Given the description of an element on the screen output the (x, y) to click on. 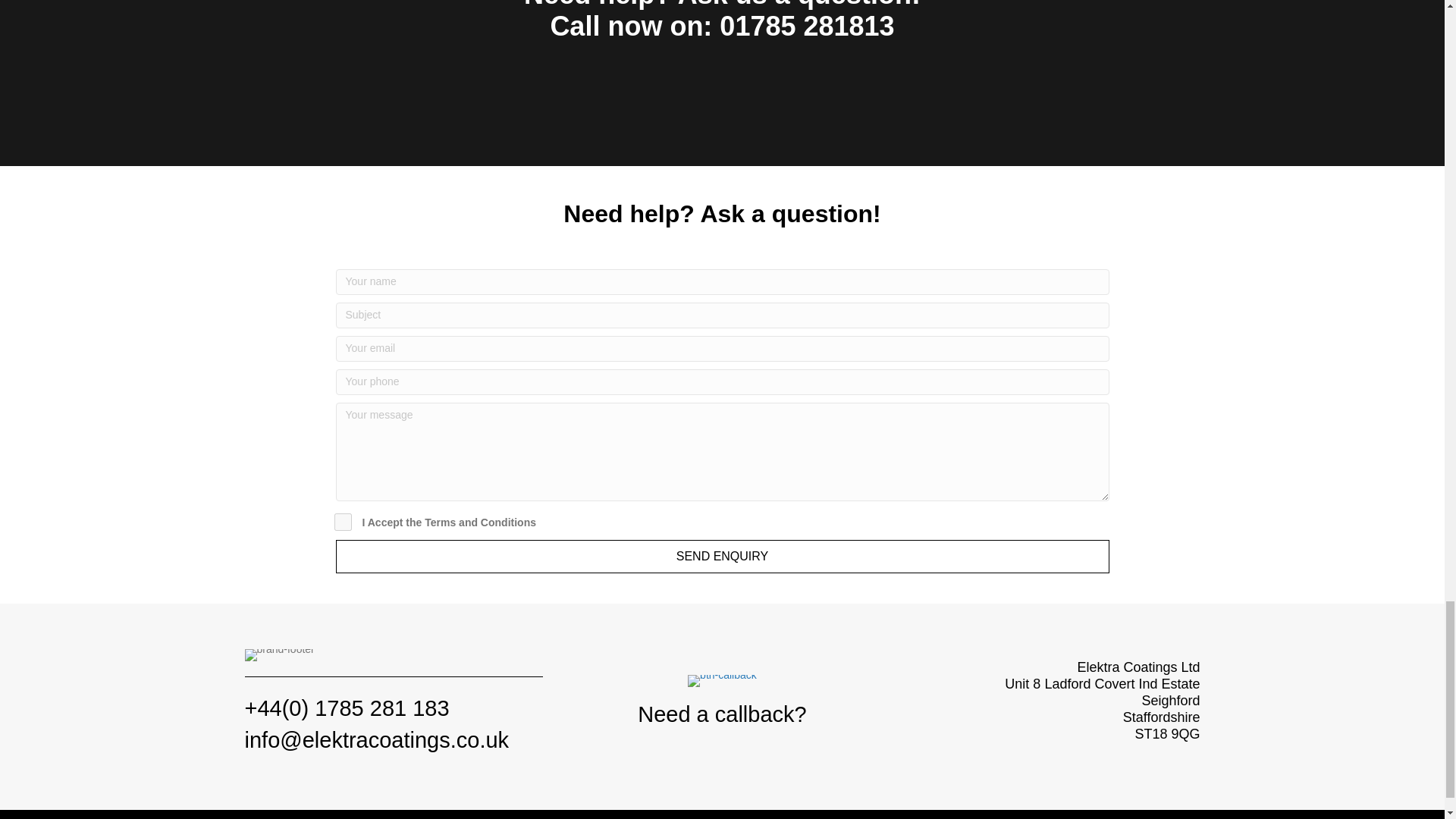
btn-callback (722, 680)
brand-footer (279, 654)
1 (341, 521)
